Given the description of an element on the screen output the (x, y) to click on. 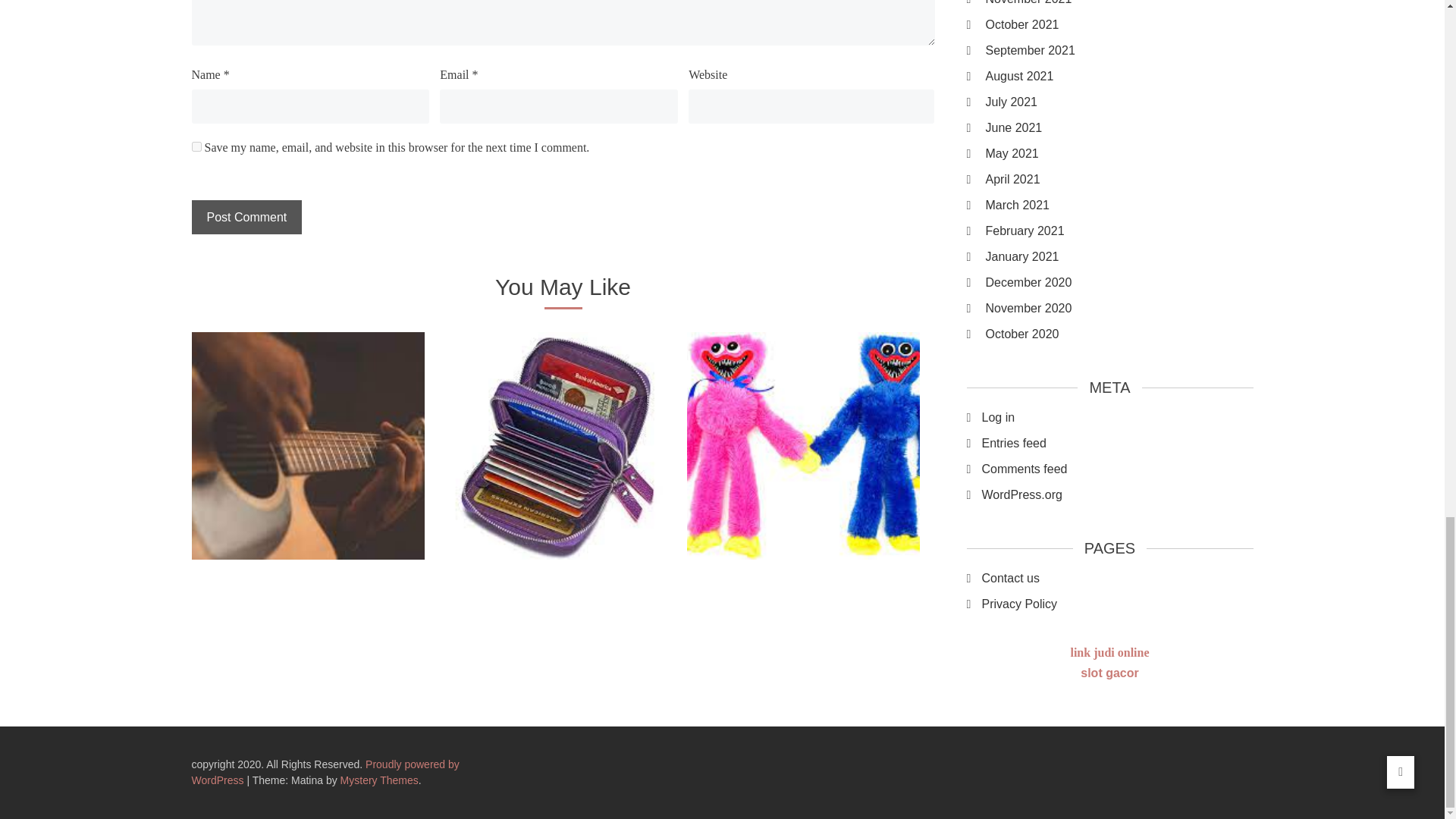
yes (195, 146)
Post Comment (245, 216)
Post Comment (245, 216)
